Given the description of an element on the screen output the (x, y) to click on. 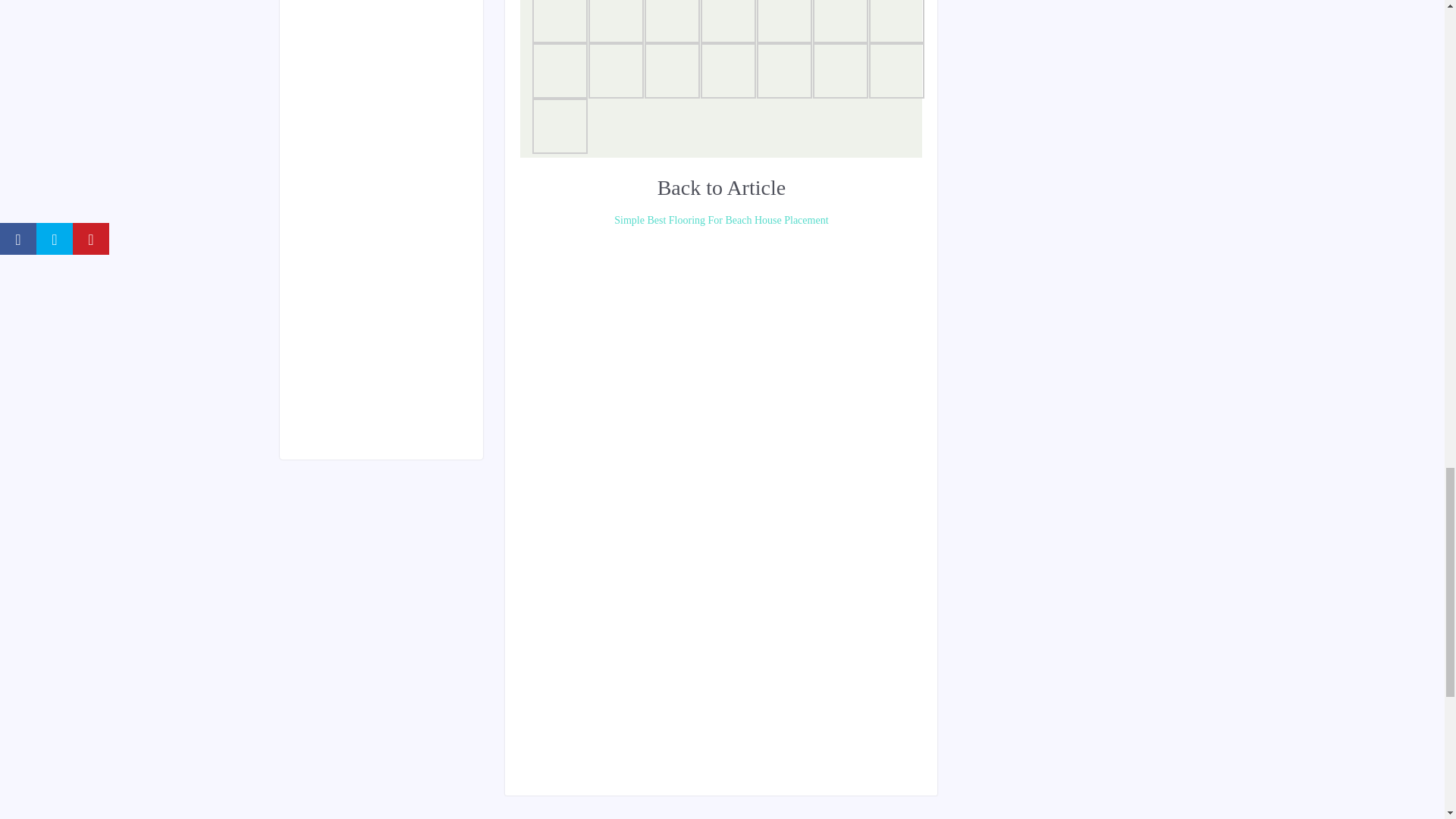
Simple Best Flooring For Beach House Placement (720, 220)
Advertisement (795, 336)
